Given the description of an element on the screen output the (x, y) to click on. 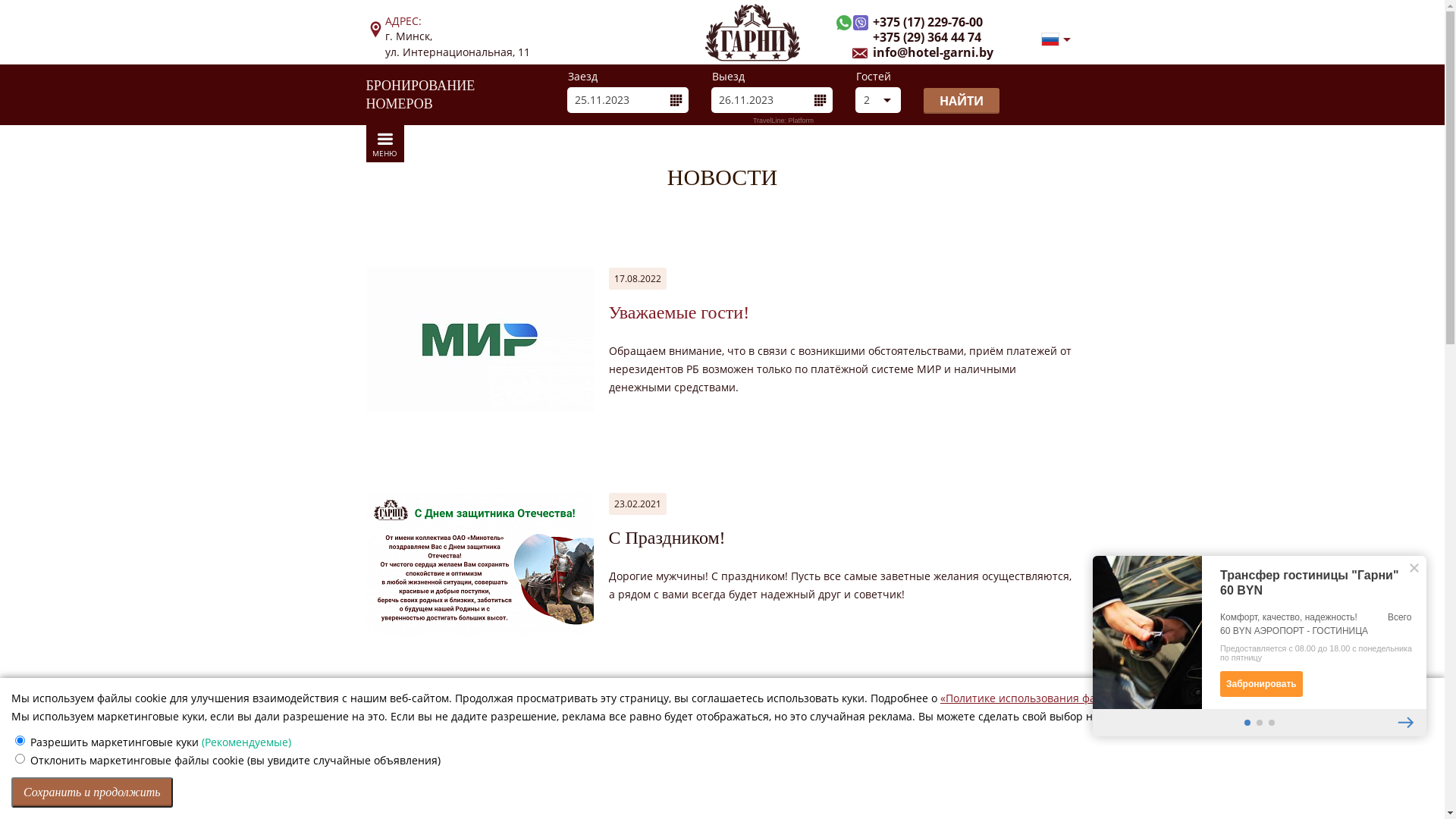
+375 (29) 364 44 74 Element type: text (915, 37)
info@hotel-garni.by Element type: text (921, 52)
+375 (17) 229-76-00 Element type: text (916, 22)
